Given the description of an element on the screen output the (x, y) to click on. 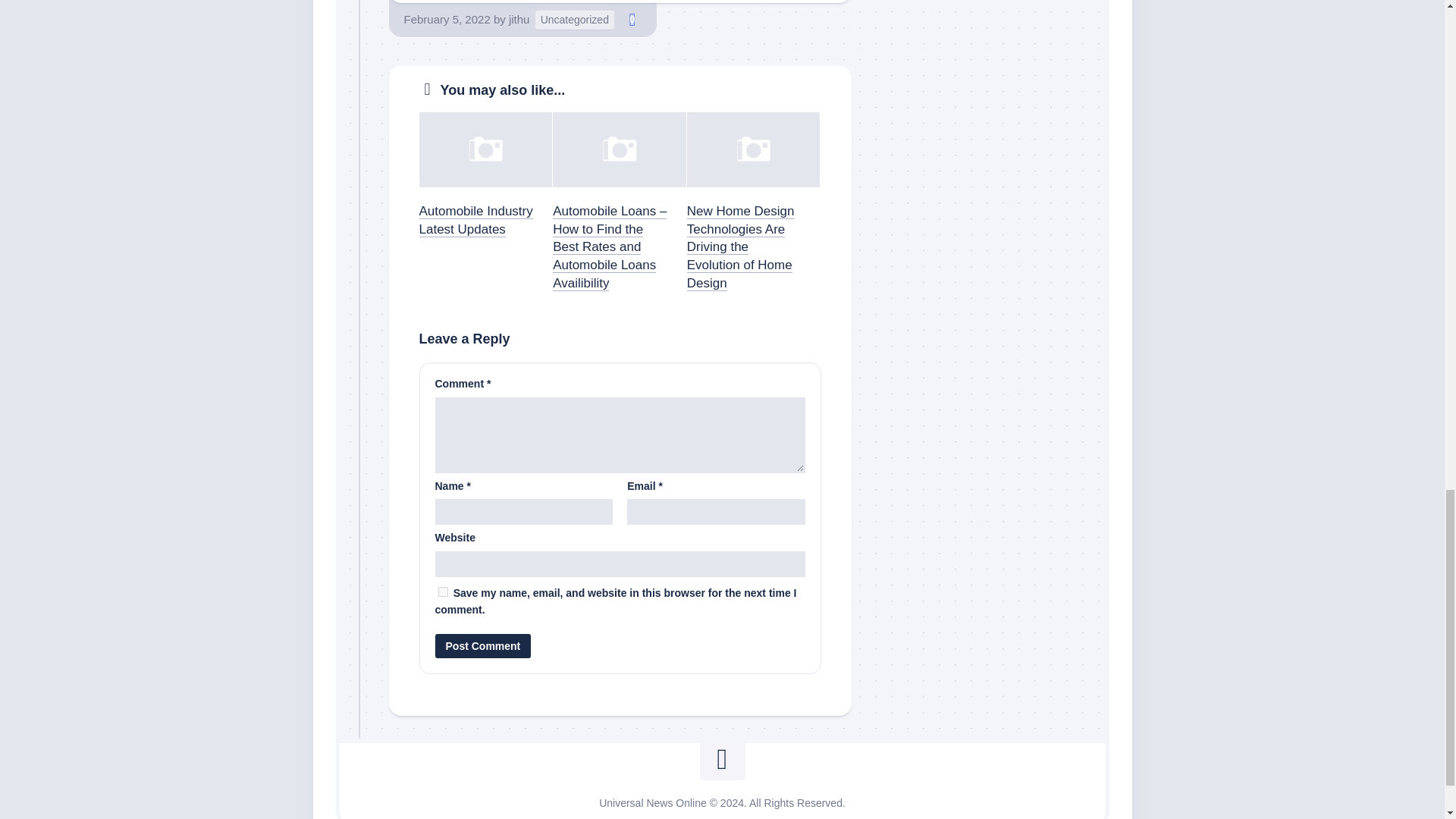
Uncategorized (574, 19)
Posts by jithu (518, 19)
jithu (518, 19)
Post Comment (483, 645)
0 (632, 19)
yes (443, 592)
Post Comment (483, 645)
Automobile Industry Latest Updates (475, 219)
